Given the description of an element on the screen output the (x, y) to click on. 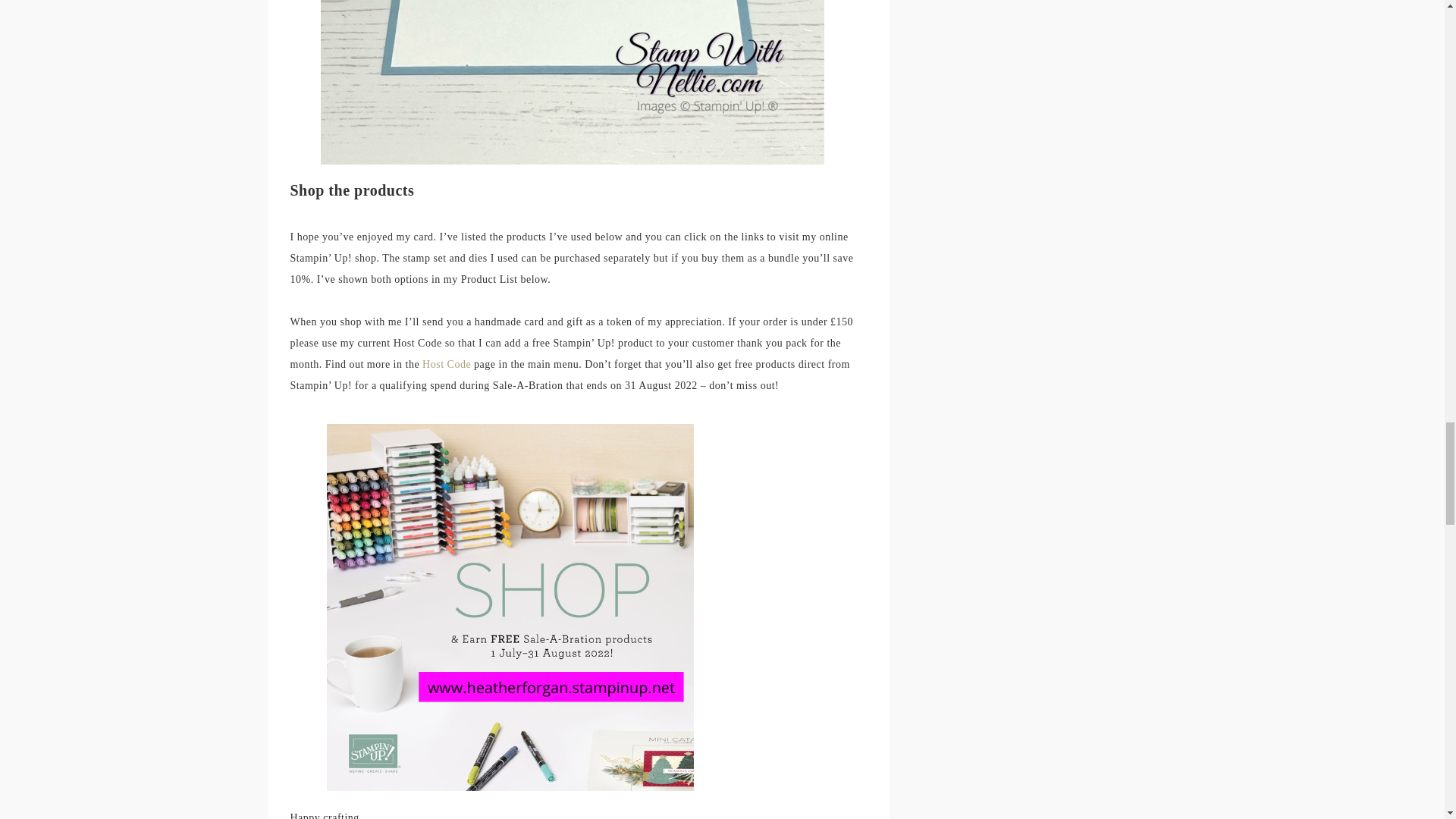
Host Code (448, 364)
